Given the description of an element on the screen output the (x, y) to click on. 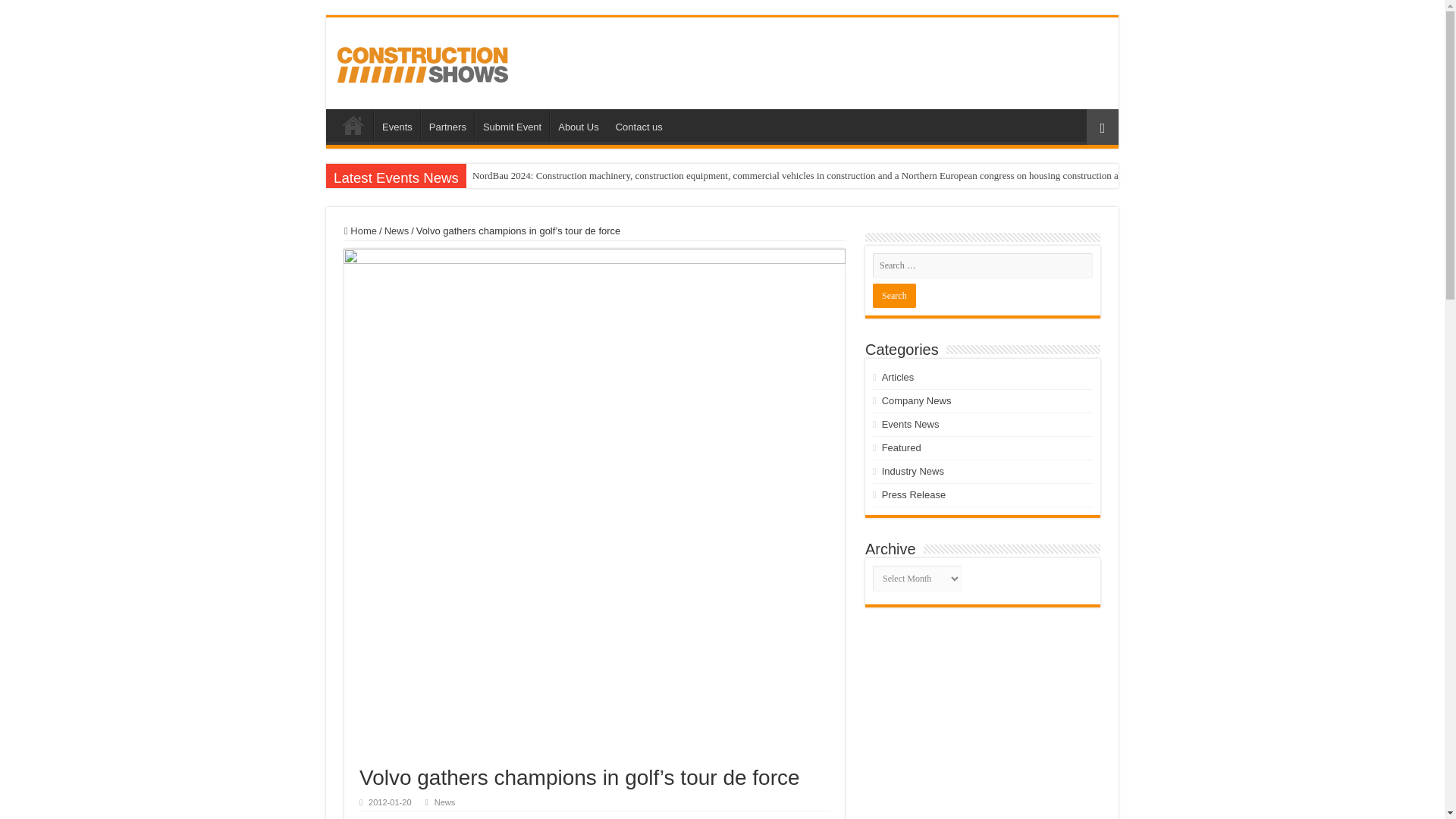
Events (397, 124)
Home (360, 230)
News (444, 801)
About Us (577, 124)
News (396, 230)
Contact us (638, 124)
Partners (447, 124)
Search (893, 295)
Search (893, 295)
Home (352, 124)
Submit Event (511, 124)
Constructionshows (422, 62)
